Given the description of an element on the screen output the (x, y) to click on. 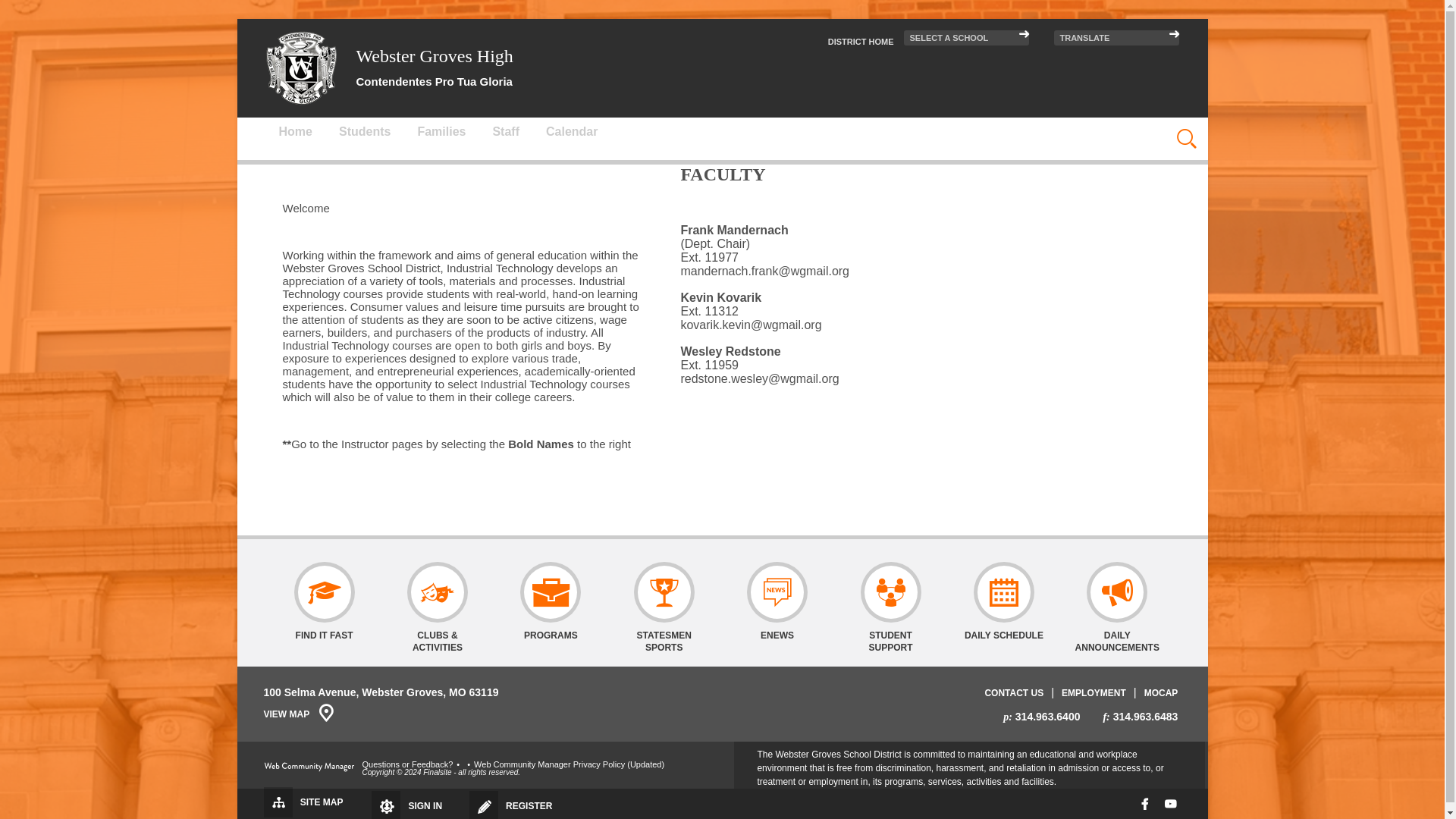
Search this site (1123, 128)
Webster Groves High (301, 68)
Return to the homepage on the district site. (860, 41)
DISTRICT HOME (860, 41)
Finalsite - all rights reserved (309, 766)
Search Term (1123, 128)
